Given the description of an element on the screen output the (x, y) to click on. 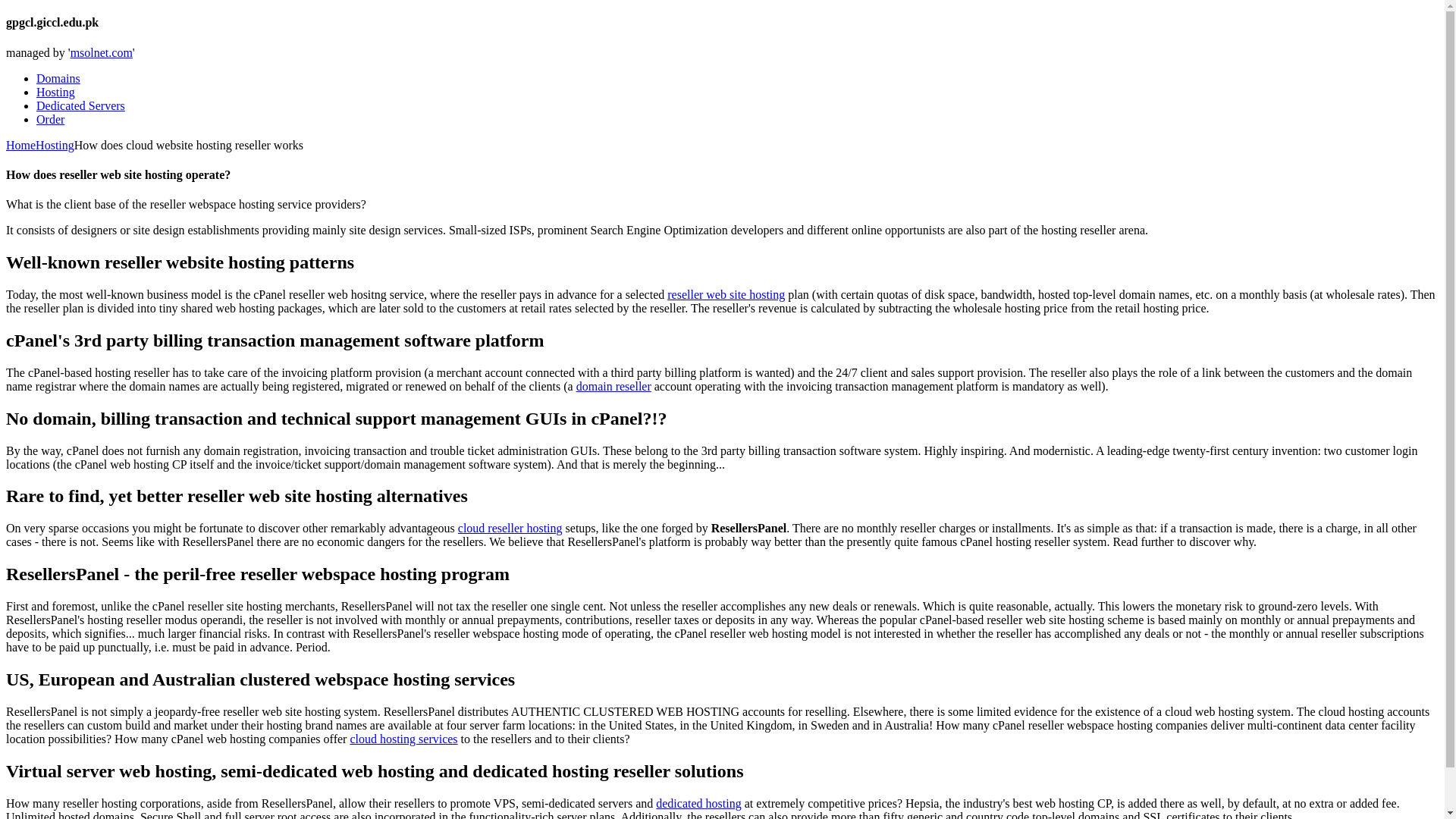
Order (50, 119)
Hosting (55, 91)
cloud reseller hosting (510, 527)
Home (19, 144)
reseller web site hosting (725, 294)
Domains (58, 78)
Hosting (54, 144)
domain reseller (613, 386)
Dedicated Servers (80, 105)
msolnet.com (100, 51)
